Given the description of an element on the screen output the (x, y) to click on. 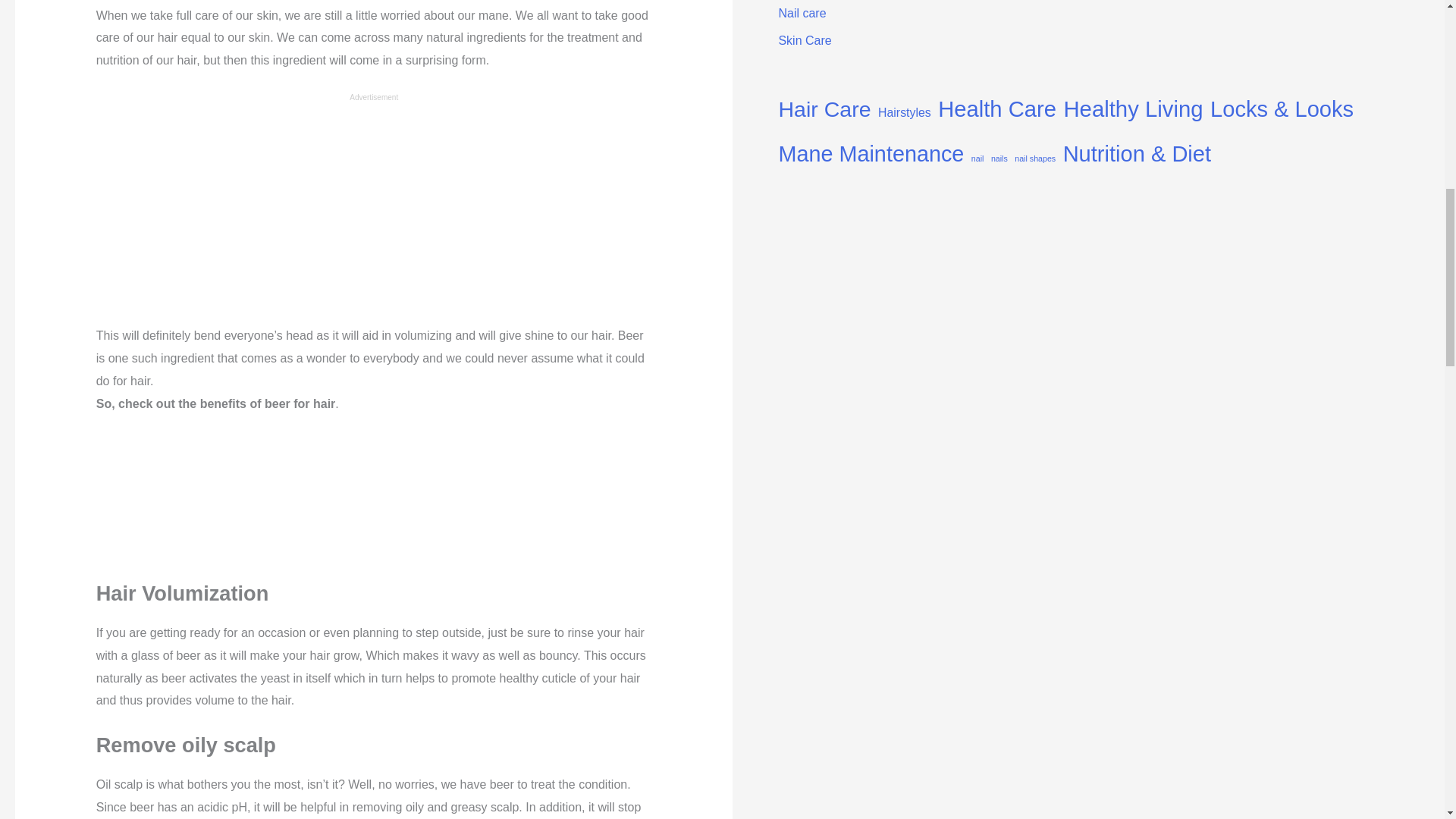
5 Beauty Benefits of Beer to Your Hair (372, 2)
